Given the description of an element on the screen output the (x, y) to click on. 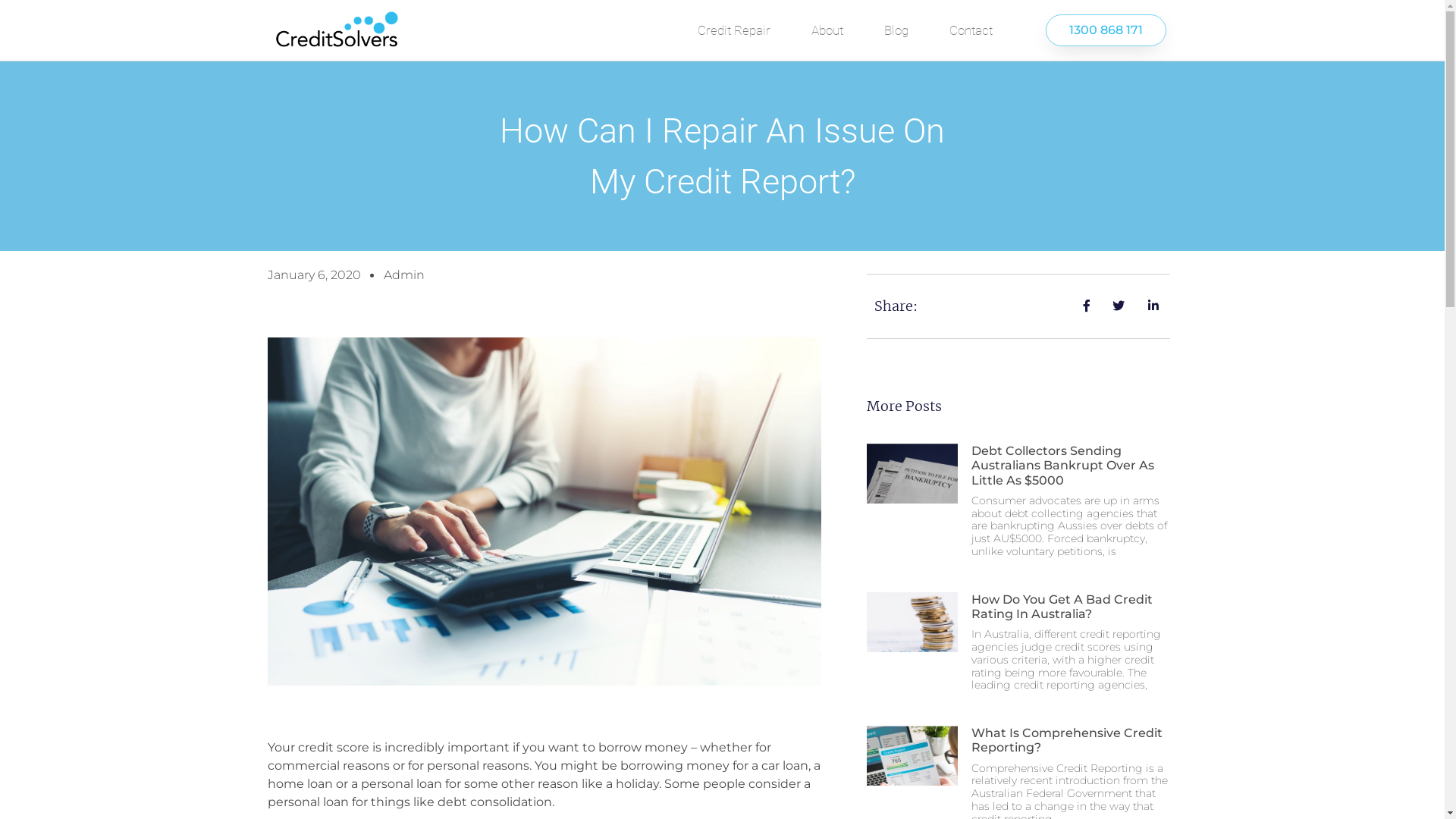
Credit Repair Element type: text (733, 29)
January 6, 2020 Element type: text (313, 275)
What Is Comprehensive Credit Reporting? Element type: text (1065, 739)
Admin Element type: text (403, 275)
How Do You Get A Bad Credit Rating In Australia? Element type: text (1060, 606)
Contact Element type: text (970, 29)
1300 868 171 Element type: text (1105, 30)
Blog Element type: text (895, 29)
About Element type: text (826, 29)
